Given the description of an element on the screen output the (x, y) to click on. 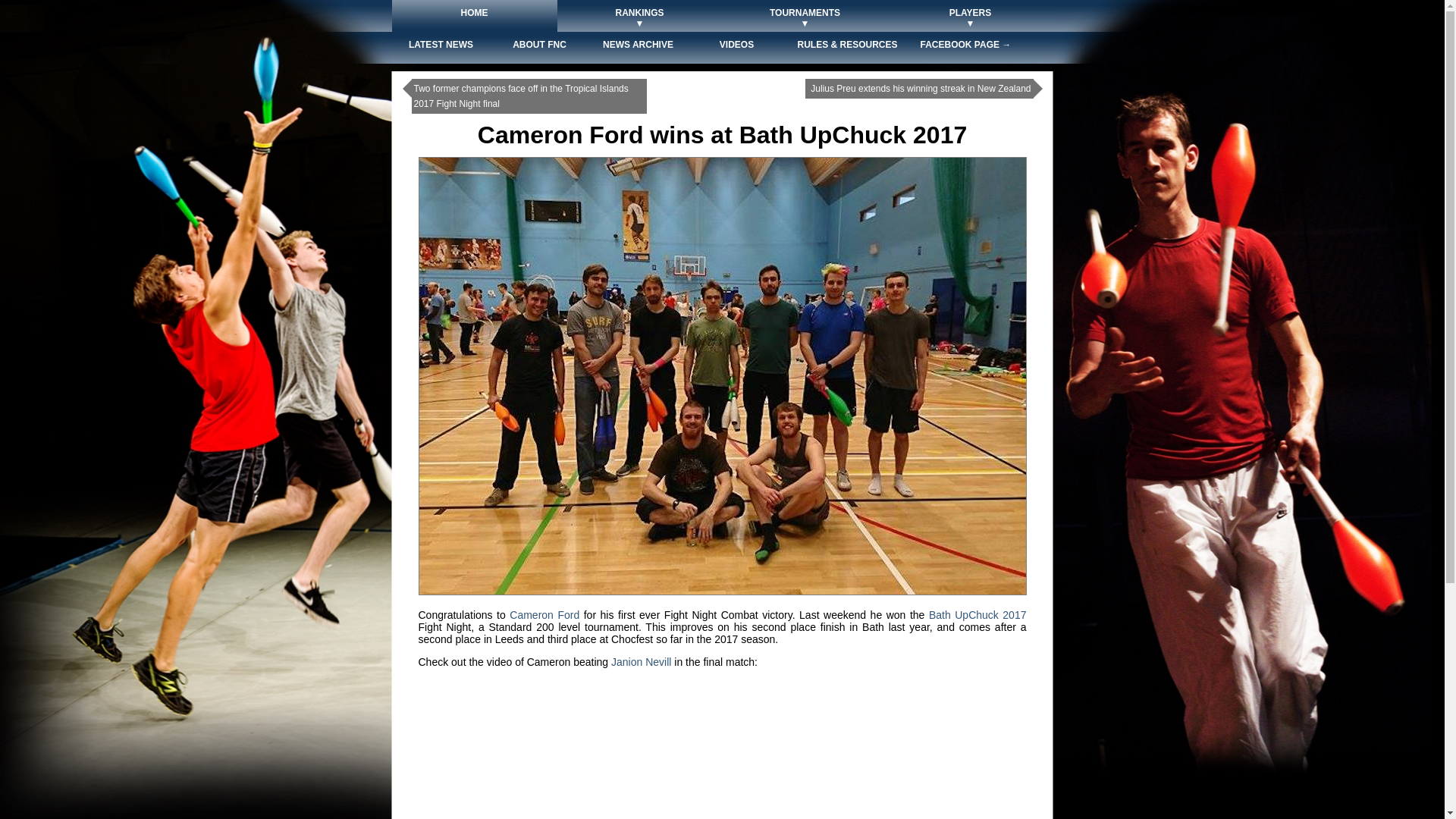
NEWS ARCHIVE (638, 50)
VIDEOS (736, 50)
Cameron Ford (544, 614)
Bath UpChuck 2017 (977, 614)
Julius Preu extends his winning streak in New Zealand (920, 88)
LATEST NEWS (441, 50)
HOME (474, 18)
ABOUT FNC (540, 50)
